Given the description of an element on the screen output the (x, y) to click on. 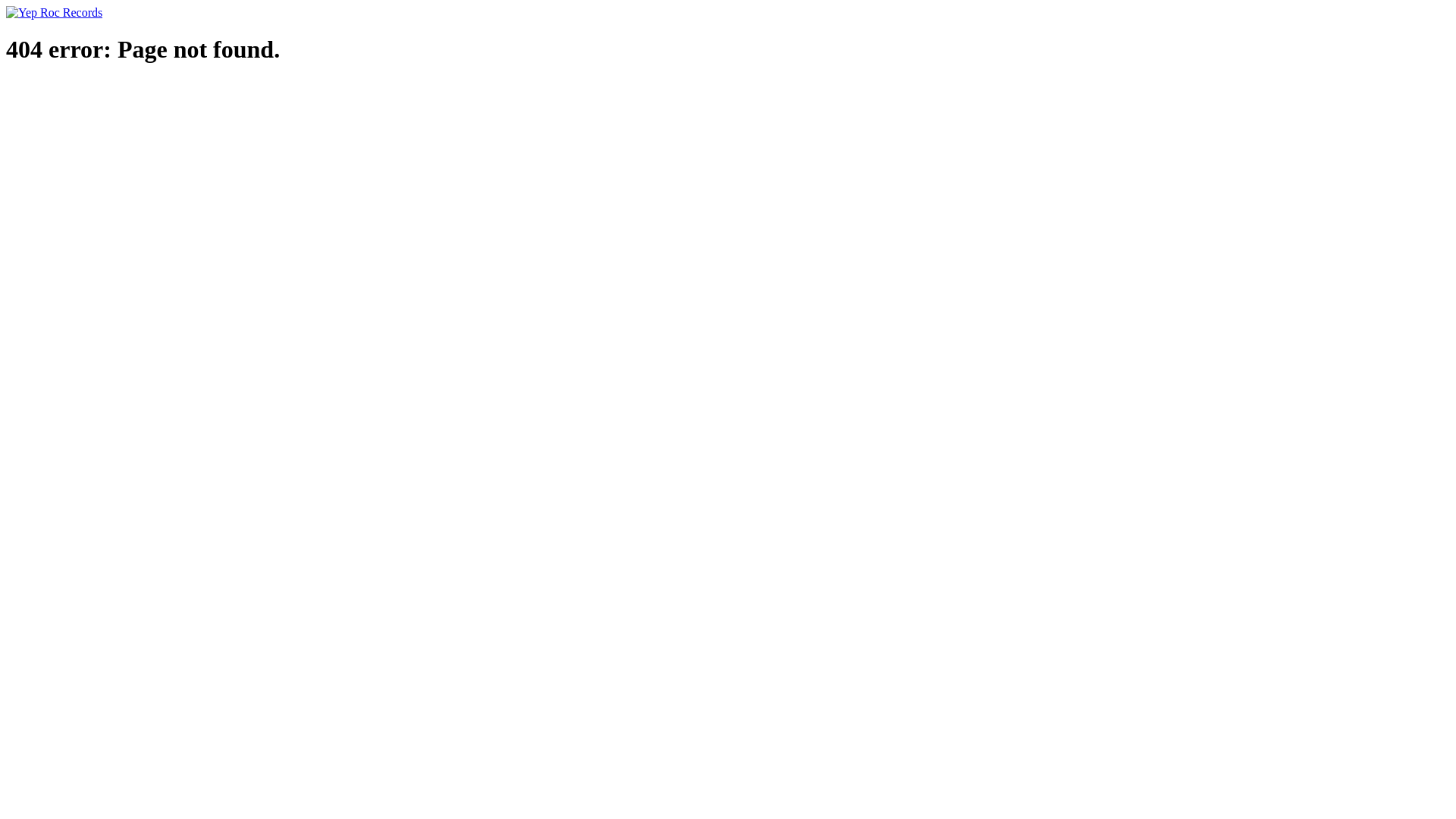
Yep Roc Records Element type: hover (54, 12)
